Given the description of an element on the screen output the (x, y) to click on. 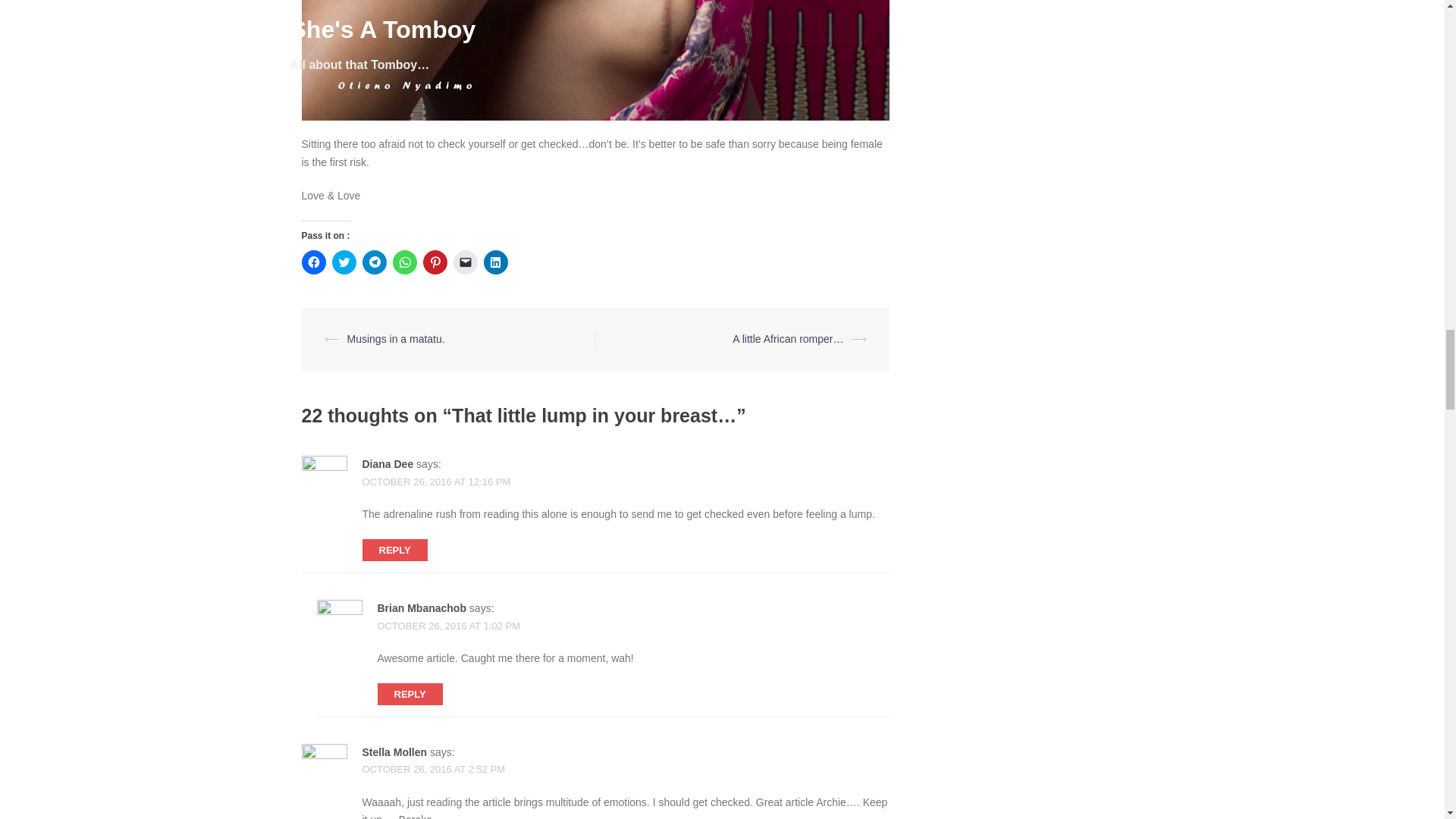
REPLY (409, 694)
Diana Dee (387, 463)
Click to email a link to a friend (464, 262)
Click to share on WhatsApp (404, 262)
OCTOBER 26, 2016 AT 12:16 PM (436, 481)
Brian Mbanachob (421, 607)
OCTOBER 26, 2016 AT 2:52 PM (433, 768)
Click to share on Telegram (374, 262)
Click to share on LinkedIn (495, 262)
Click to share on Twitter (343, 262)
OCTOBER 26, 2016 AT 1:02 PM (449, 625)
Click to share on Pinterest (434, 262)
Click to share on Facebook (313, 262)
Musings in a matatu. (396, 338)
REPLY (395, 549)
